Given the description of an element on the screen output the (x, y) to click on. 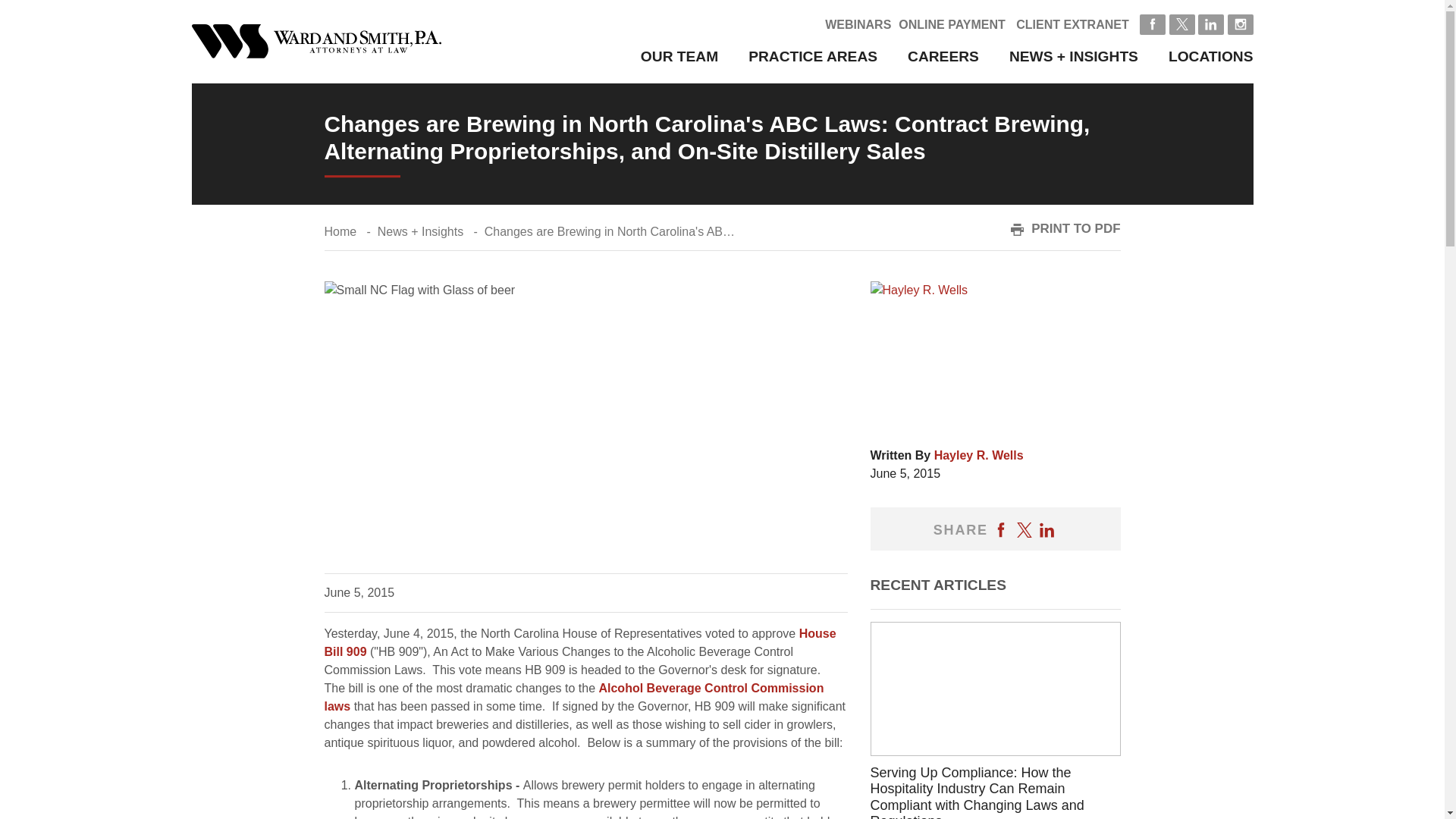
PRINT TO PDF (1064, 228)
PRACTICE AREAS (812, 56)
ONLINE PAYMENT (951, 24)
CLIENT EXTRANET (1072, 24)
OUR TEAM (678, 56)
Share on Twitter (1024, 529)
Alcohol Beverage Control Commission laws (574, 696)
WEBINARS (858, 24)
Share on Facebook (1000, 529)
Home (340, 231)
CAREERS (942, 56)
LOCATIONS (1211, 56)
House Bill 909 (579, 642)
Hayley R. Wells (978, 454)
